Given the description of an element on the screen output the (x, y) to click on. 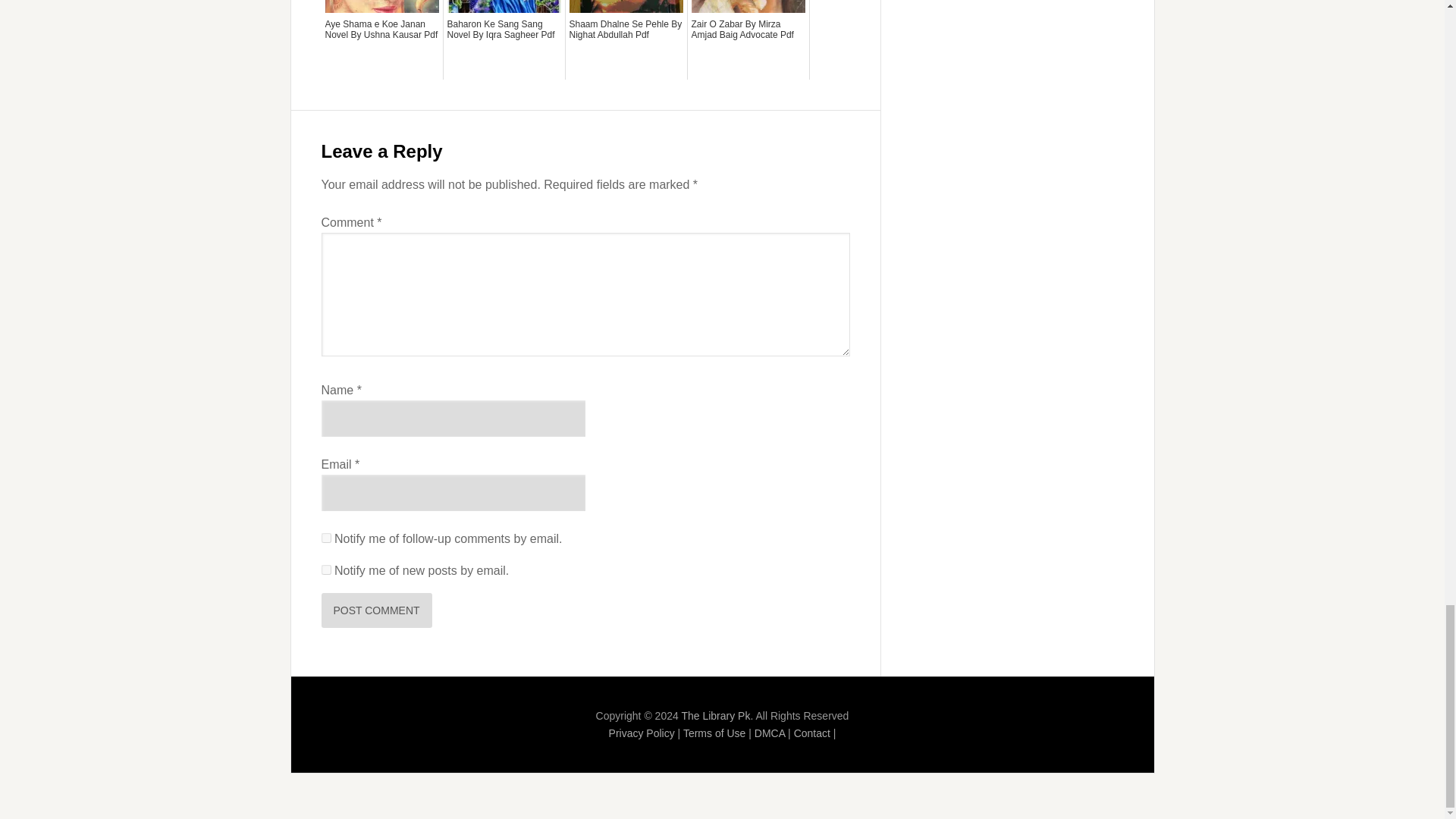
subscribe (326, 537)
Post Comment (376, 610)
subscribe (326, 569)
